Given the description of an element on the screen output the (x, y) to click on. 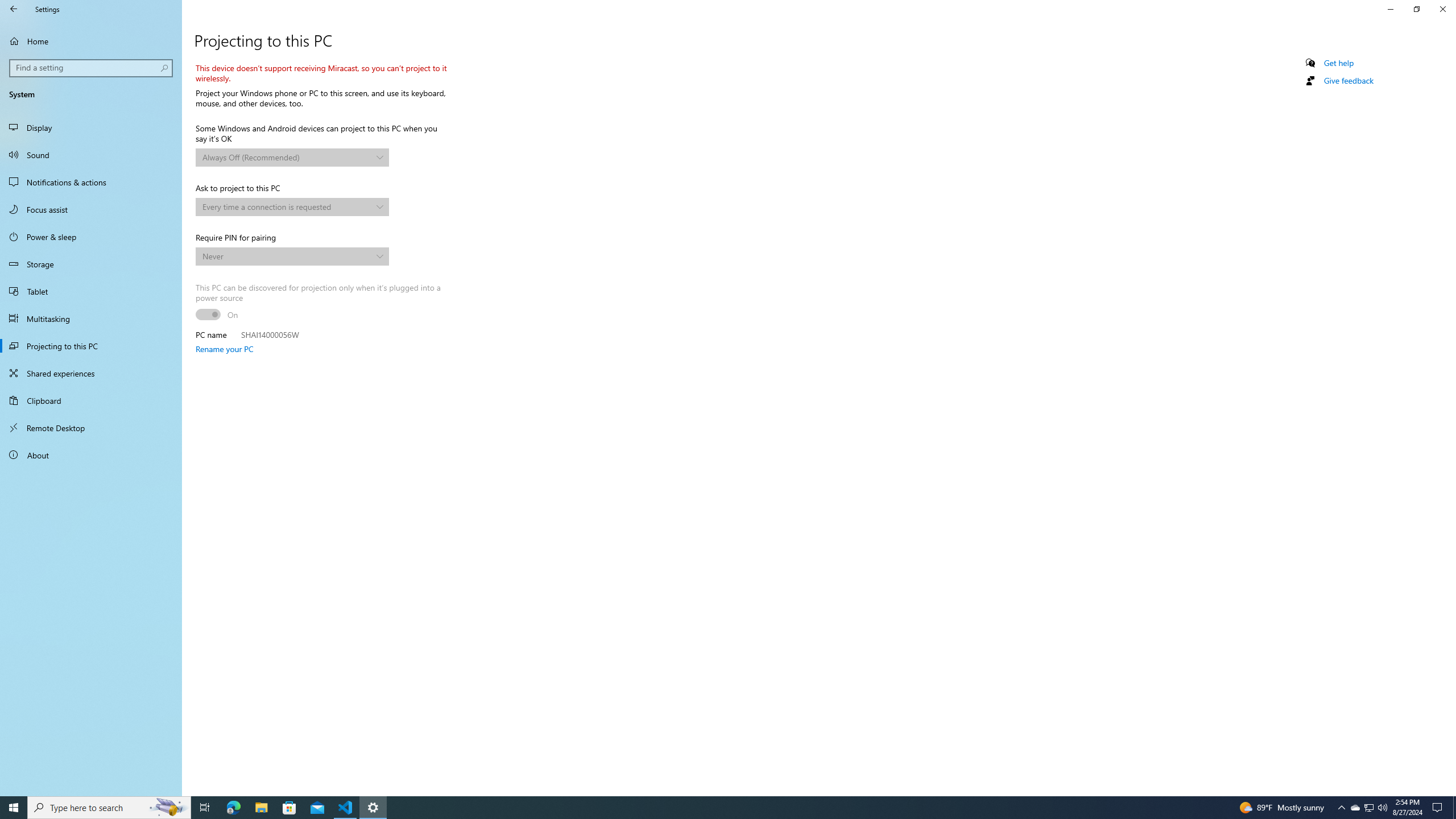
Ask to project to this PC (291, 207)
Remote Desktop (91, 427)
Never (286, 255)
Give feedback (1348, 80)
Always Off (Recommended) (286, 156)
Every time a connection is requested (286, 206)
